Given the description of an element on the screen output the (x, y) to click on. 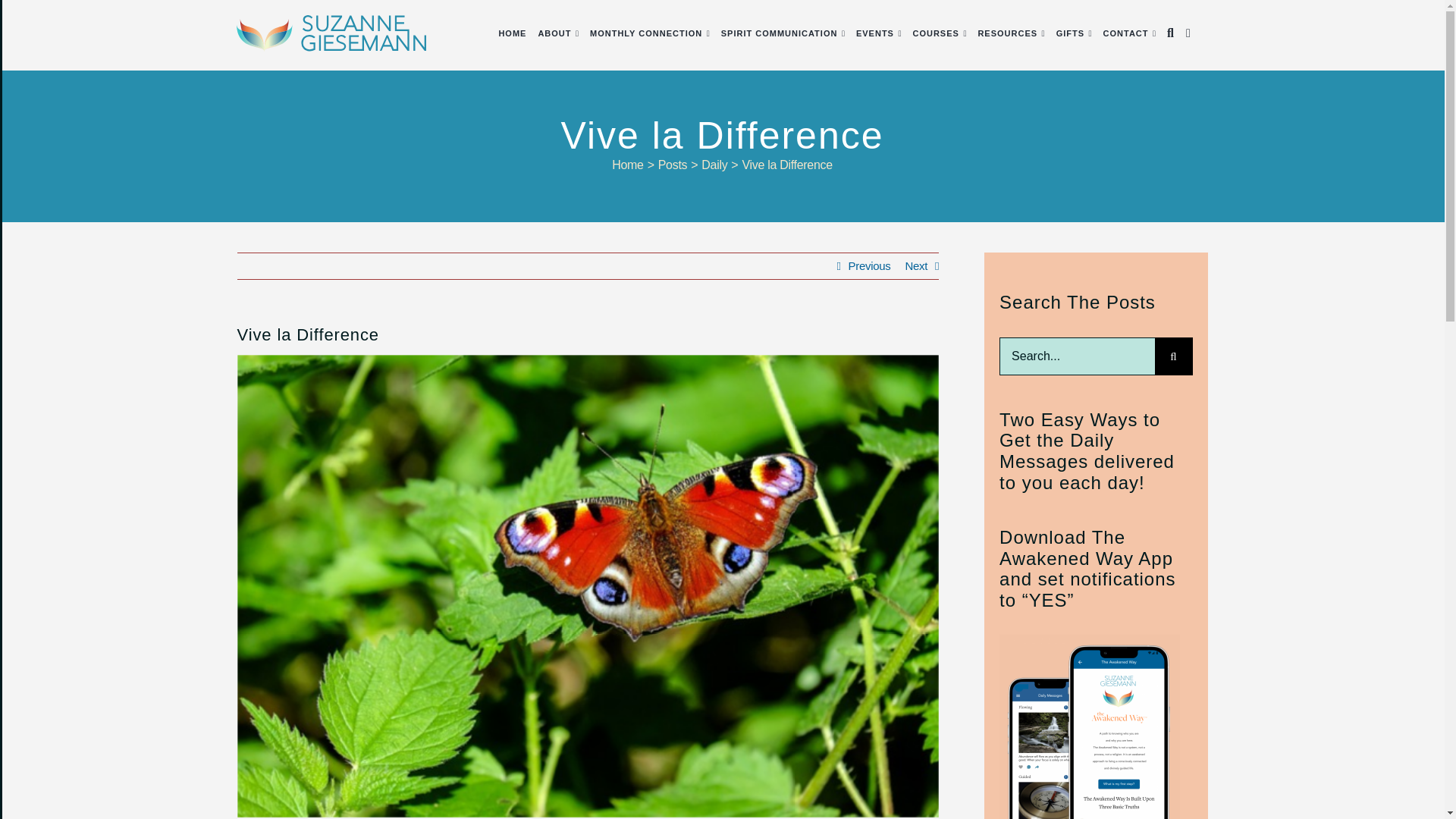
SPIRIT COMMUNICATION (779, 33)
EVENTS (874, 33)
MONTHLY CONNECTION (645, 33)
ABOUT (553, 33)
COURSES (935, 33)
sgsvg (330, 33)
HOME (511, 33)
